Given the description of an element on the screen output the (x, y) to click on. 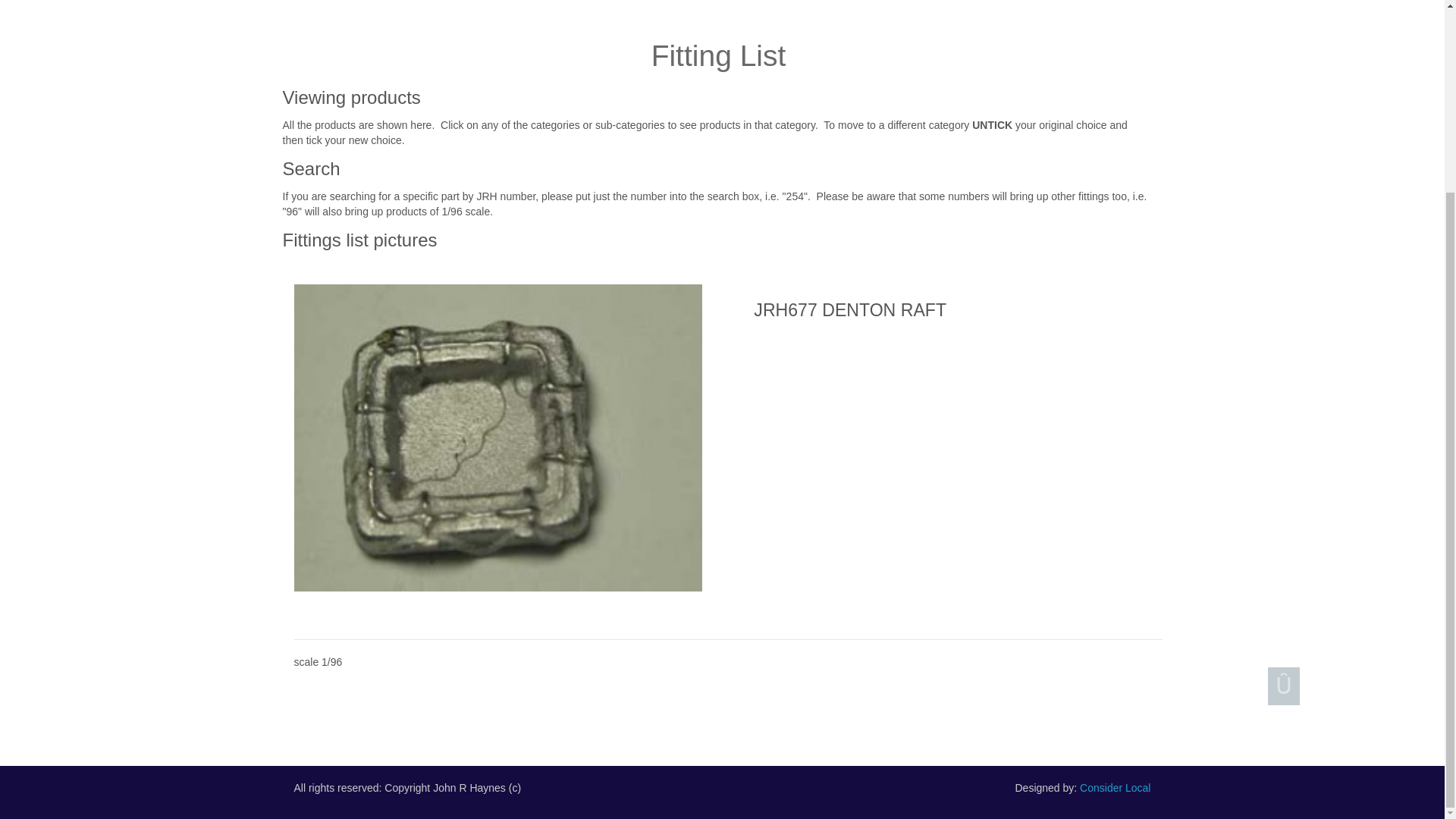
Consider Local (1115, 787)
